Given the description of an element on the screen output the (x, y) to click on. 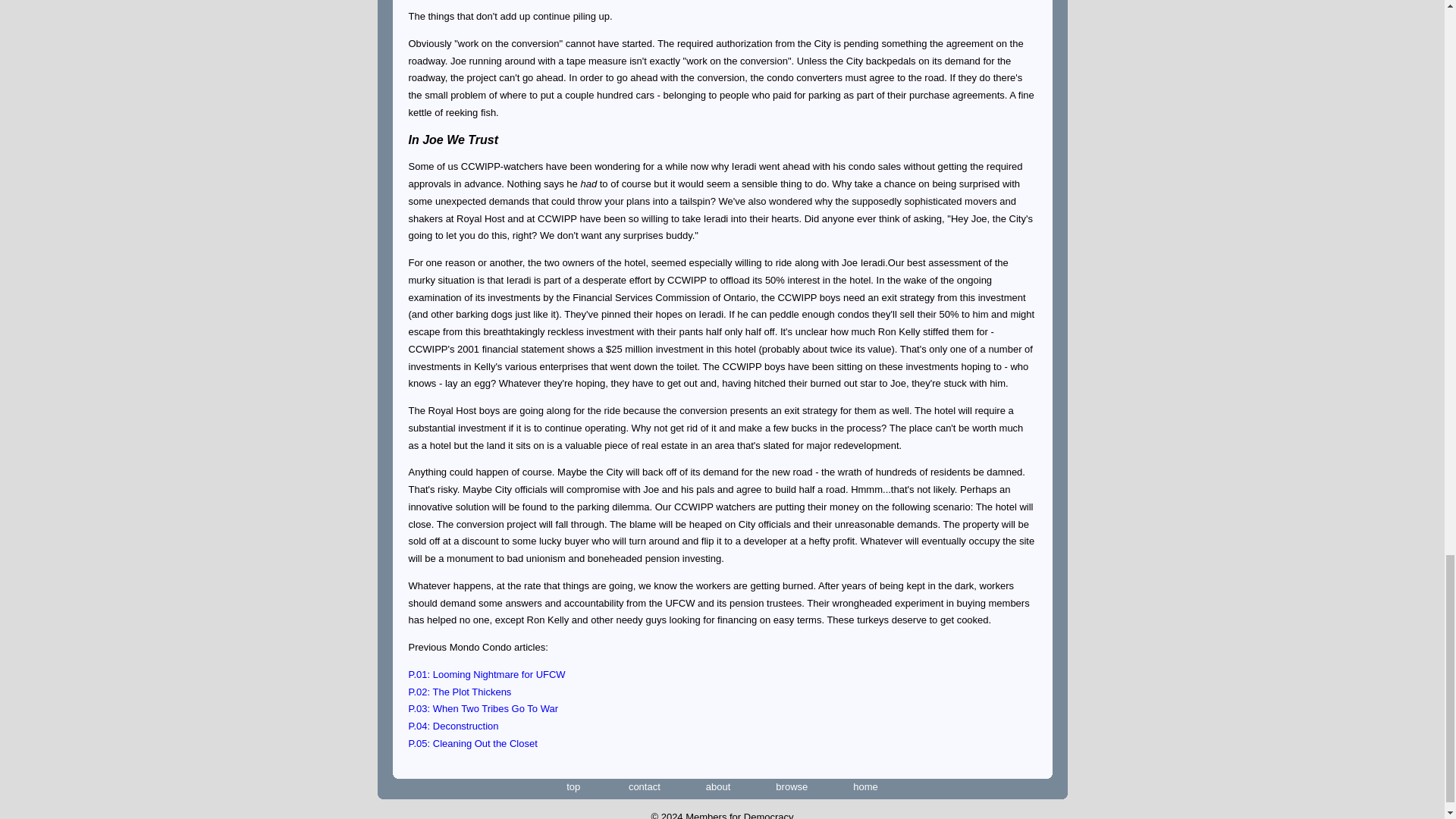
P.05: Cleaning Out the Closet (472, 743)
about (718, 786)
P.01: Looming Nightmare for UFCW (485, 674)
P.03: When Two Tribes Go To War (482, 708)
top (572, 786)
P.02: The Plot Thickens (459, 691)
contact (644, 786)
home (865, 786)
P.04: Deconstruction (452, 726)
browse (792, 786)
